Given the description of an element on the screen output the (x, y) to click on. 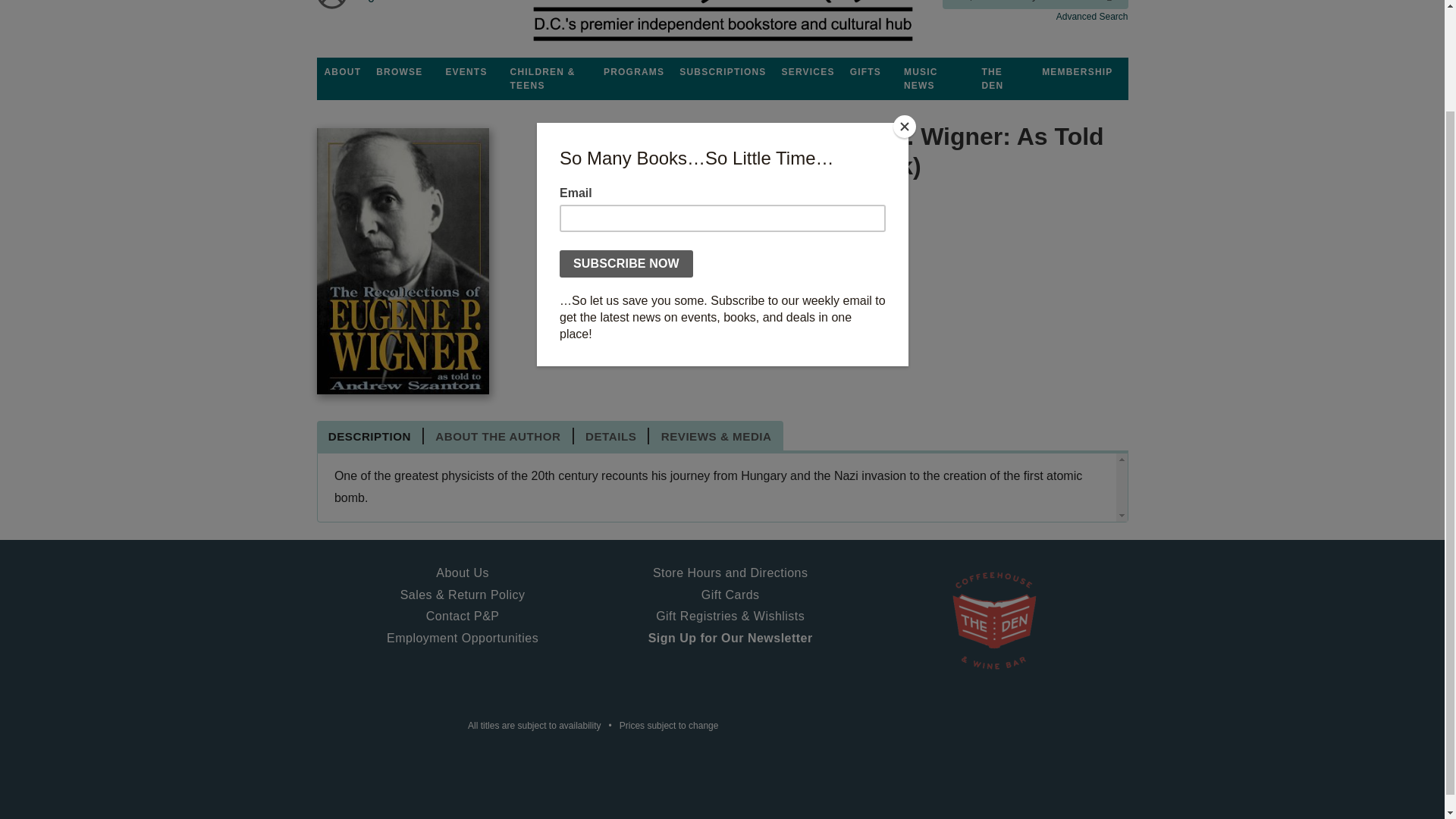
My Account (332, 6)
SUBSCRIPTIONS (722, 71)
See information about our programs (633, 71)
Title, author or keyword... (1034, 4)
EVENTS (465, 71)
ABOUT (343, 71)
Visit your cart (371, 6)
Cart (371, 6)
PROGRAMS (633, 71)
Add to Cart (605, 314)
Browse our shelves (398, 71)
See our event calendar (465, 71)
SERVICES (808, 71)
Children and Teens Department (548, 78)
